Given the description of an element on the screen output the (x, y) to click on. 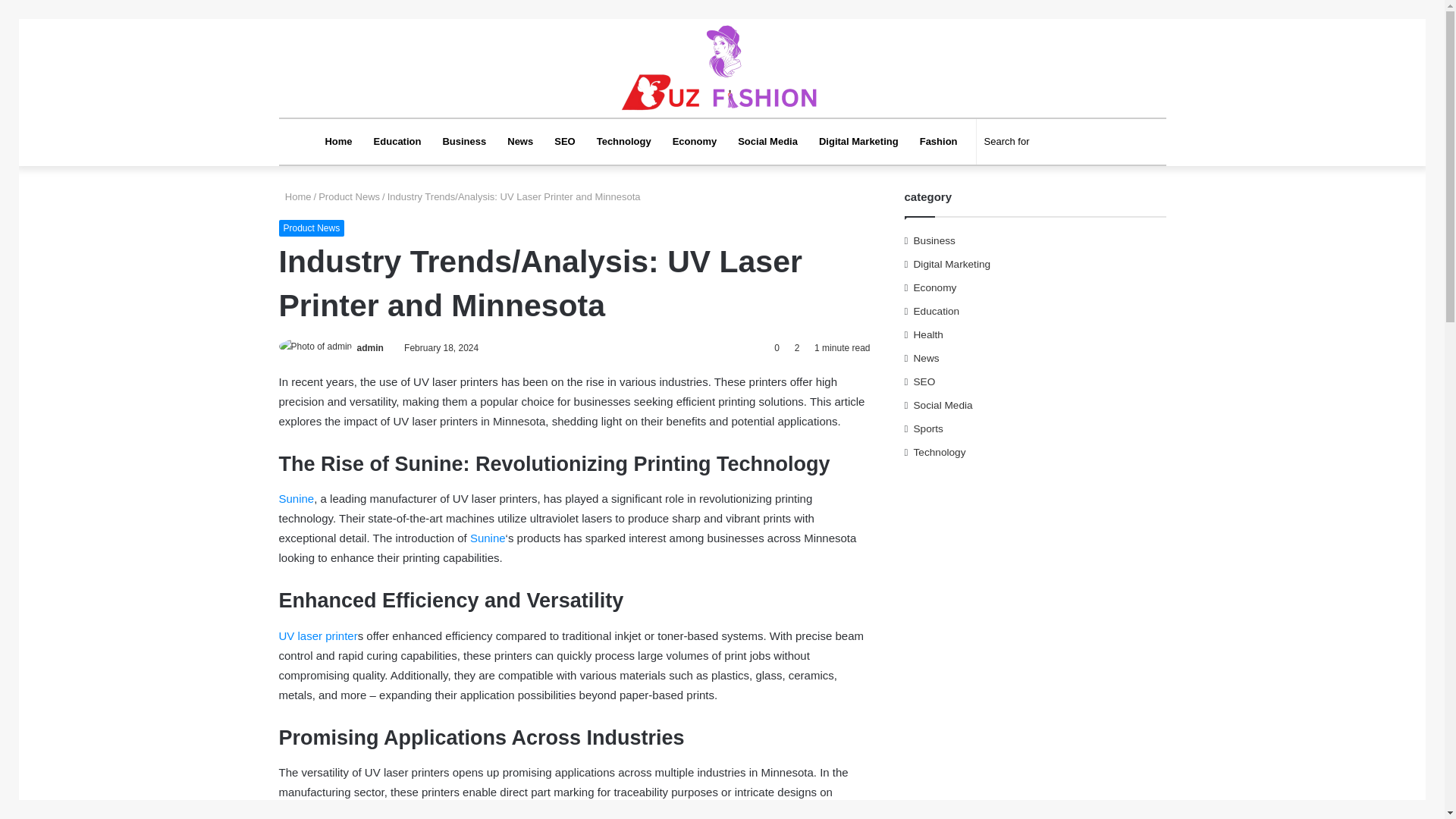
Digital Marketing (858, 141)
Business (463, 141)
admin (370, 347)
Education (397, 141)
Product News (349, 196)
Fashion (938, 141)
admin (370, 347)
Home (295, 196)
Economy (695, 141)
News (519, 141)
UV laser printer (318, 635)
Technology (624, 141)
Social Media (767, 141)
SEO (564, 141)
Sunine (296, 498)
